Given the description of an element on the screen output the (x, y) to click on. 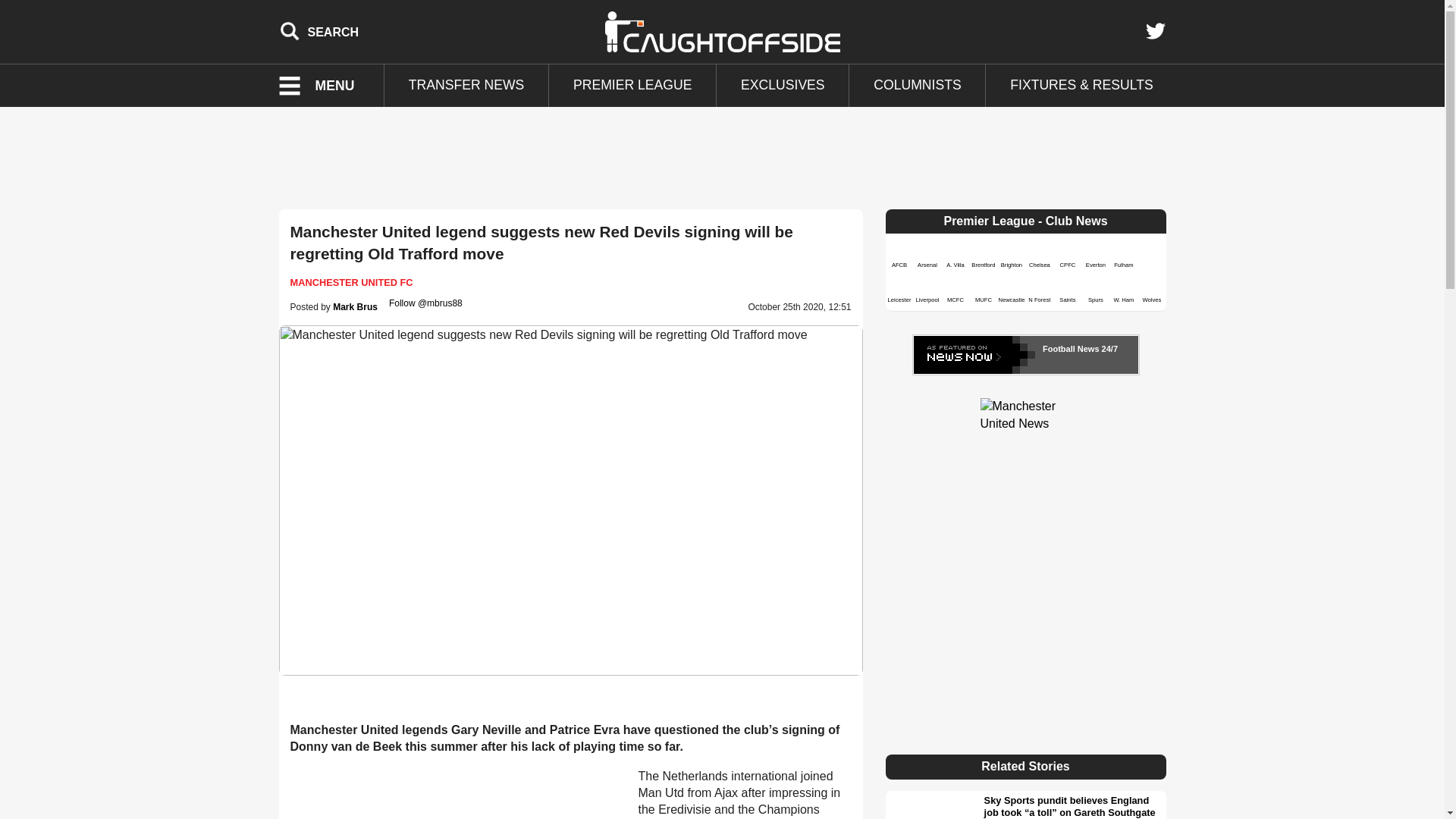
Twitter (1155, 30)
Menu (325, 85)
EXCLUSIVES (782, 85)
Search (319, 30)
TRANSFER NEWS (466, 85)
PREMIER LEAGUE (632, 85)
